Given the description of an element on the screen output the (x, y) to click on. 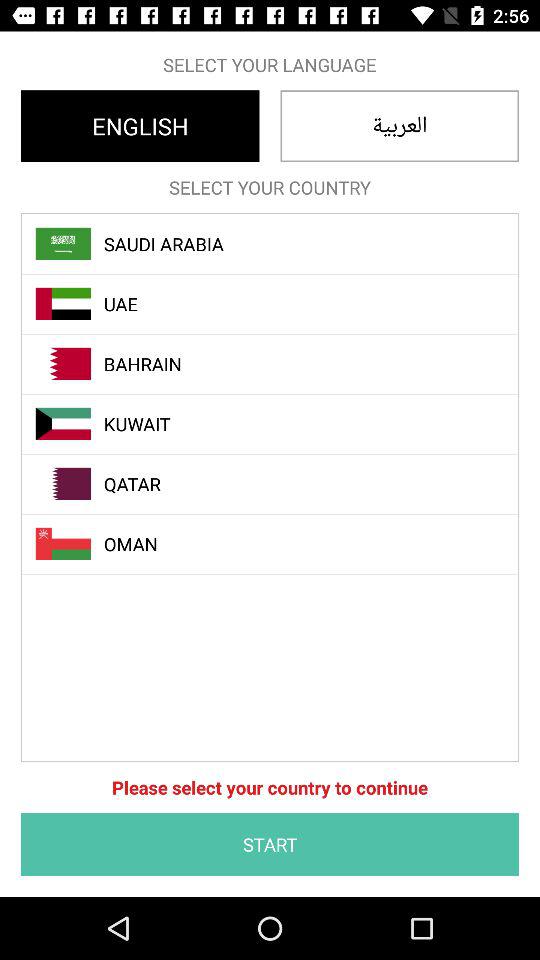
choose item below the select your language (140, 126)
